Given the description of an element on the screen output the (x, y) to click on. 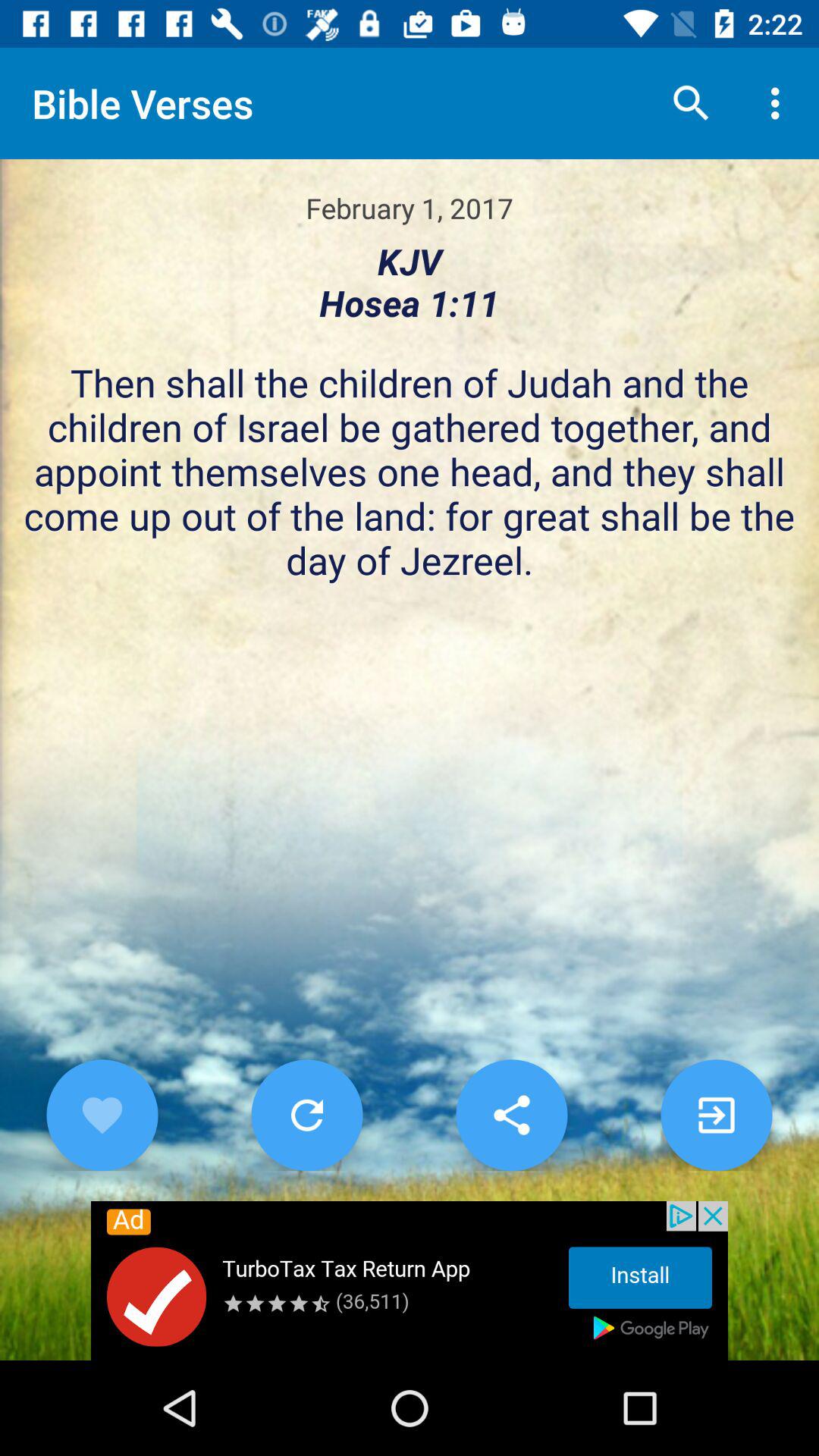
share the article (511, 1115)
